Given the description of an element on the screen output the (x, y) to click on. 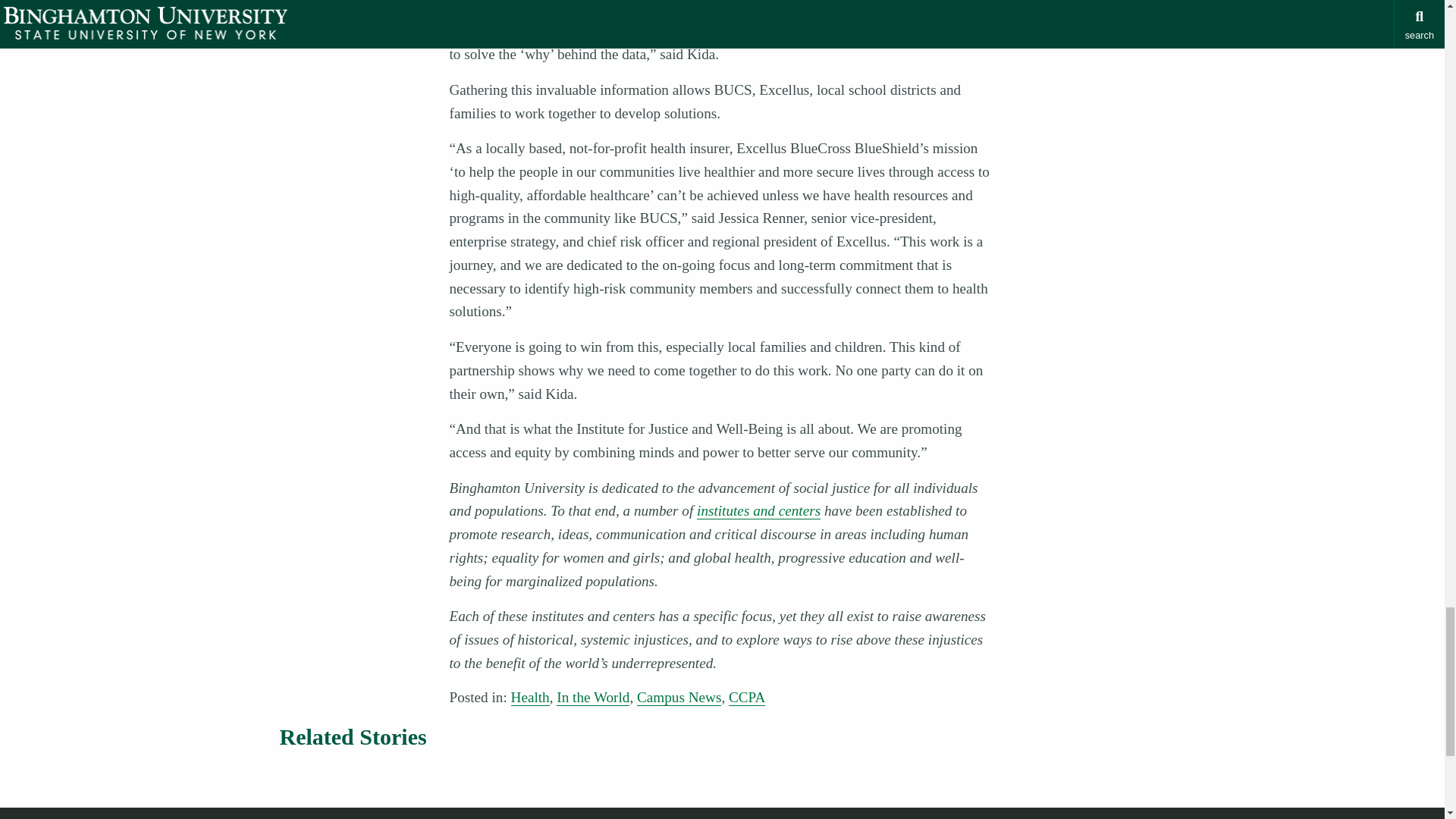
CCPA (747, 697)
Health (530, 697)
institutes and centers (759, 510)
In the World (592, 697)
Campus News (678, 697)
